Given the description of an element on the screen output the (x, y) to click on. 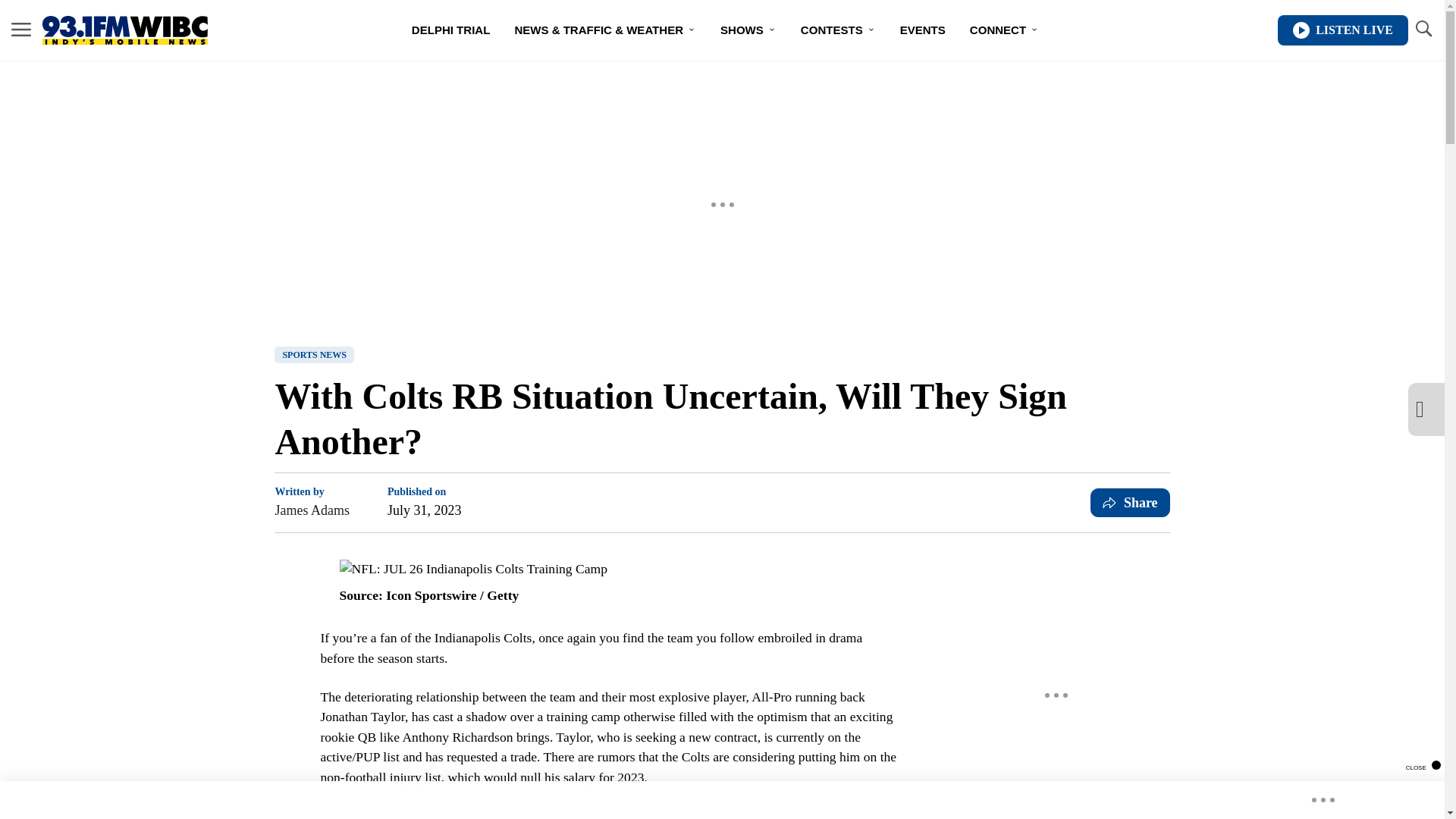
MENU (20, 30)
SHOWS (748, 30)
TOGGLE SEARCH (1422, 28)
CONNECT (1004, 30)
LISTEN LIVE (1342, 30)
DELPHI TRIAL (450, 30)
CONTESTS (838, 30)
TOGGLE SEARCH (1422, 30)
MENU (20, 29)
EVENTS (923, 30)
